Given the description of an element on the screen output the (x, y) to click on. 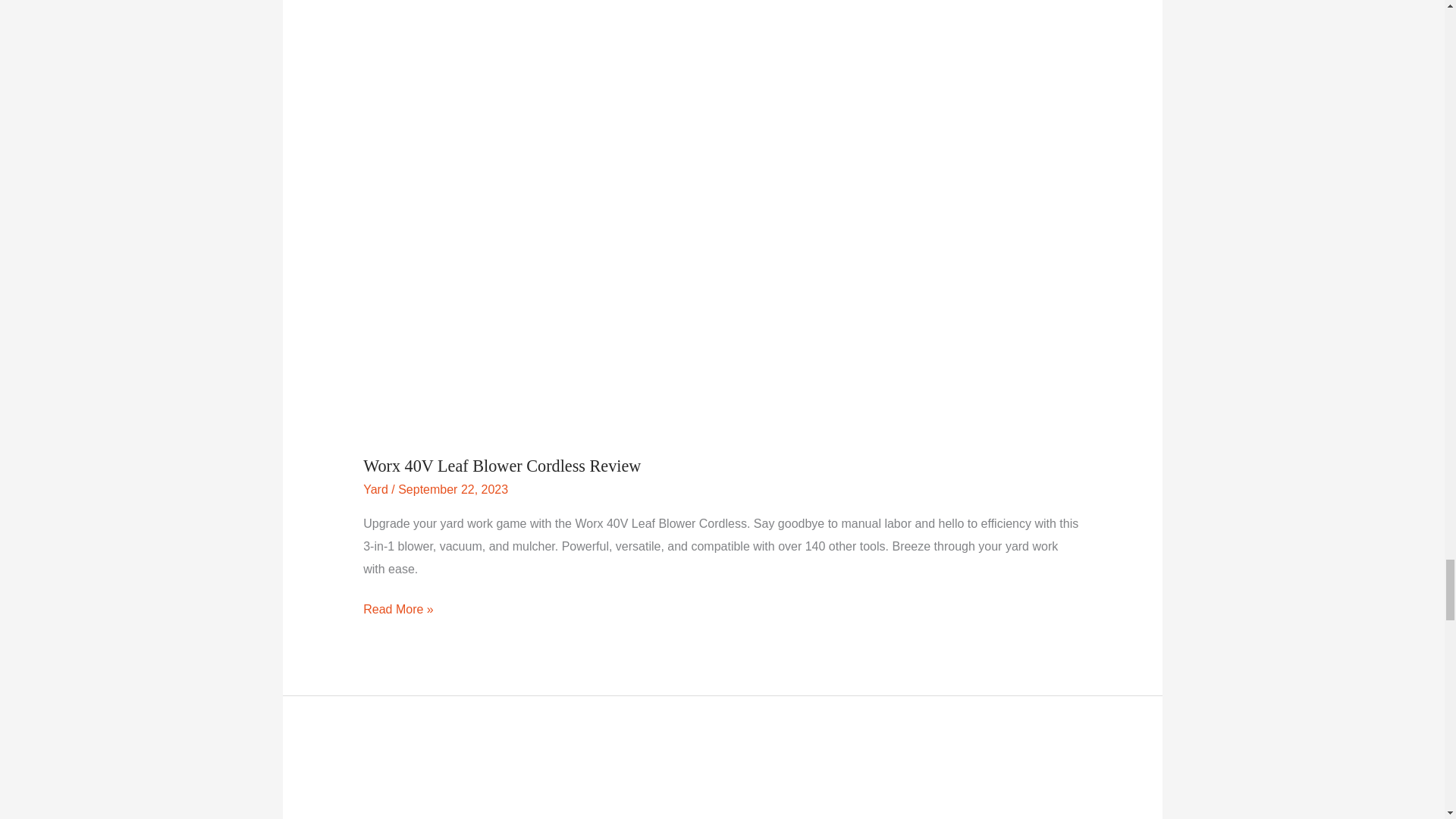
Worx 40V Leaf Blower Cordless Review (501, 465)
